Given the description of an element on the screen output the (x, y) to click on. 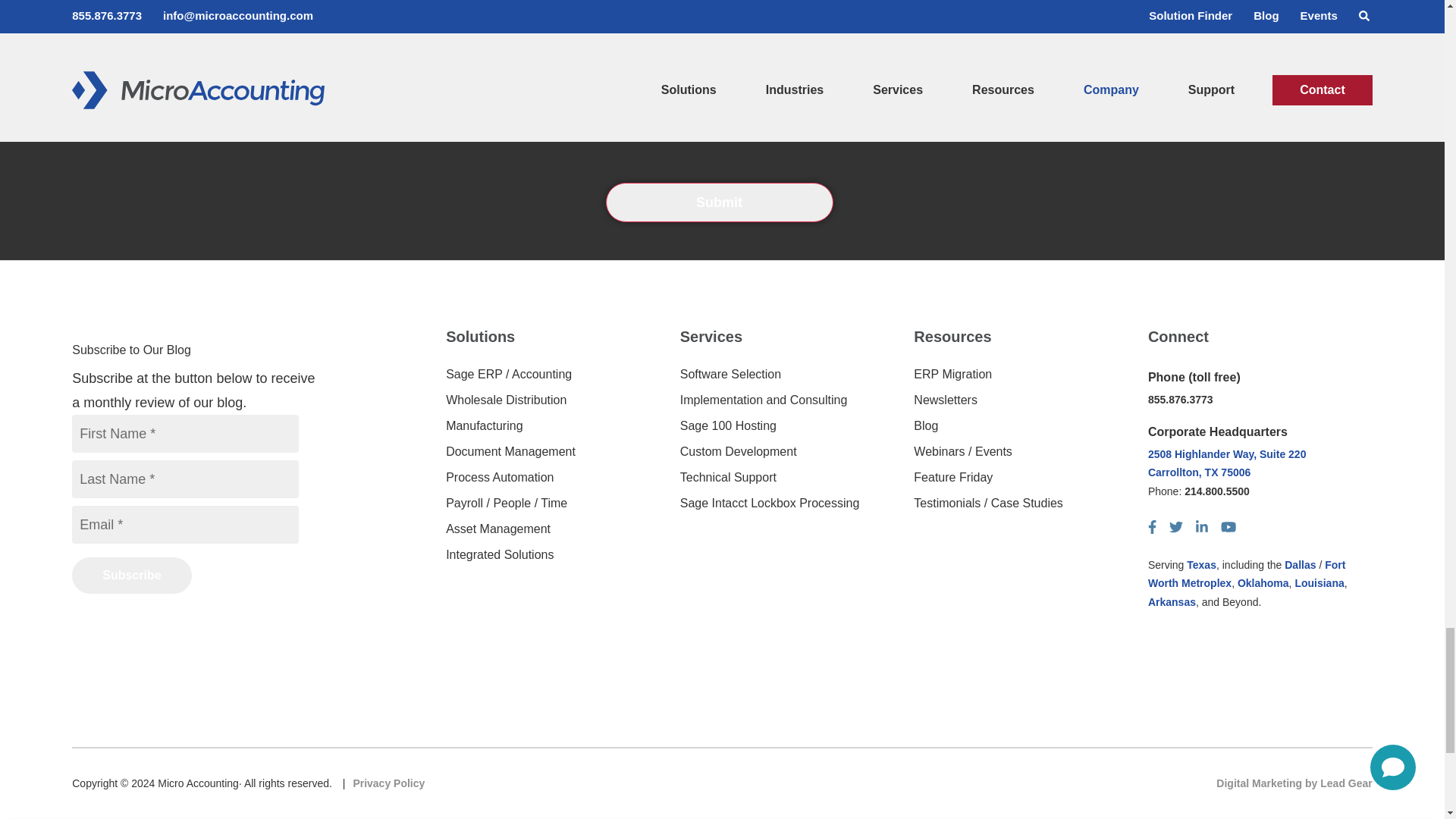
Submit (718, 201)
Subscribe (130, 575)
